Given the description of an element on the screen output the (x, y) to click on. 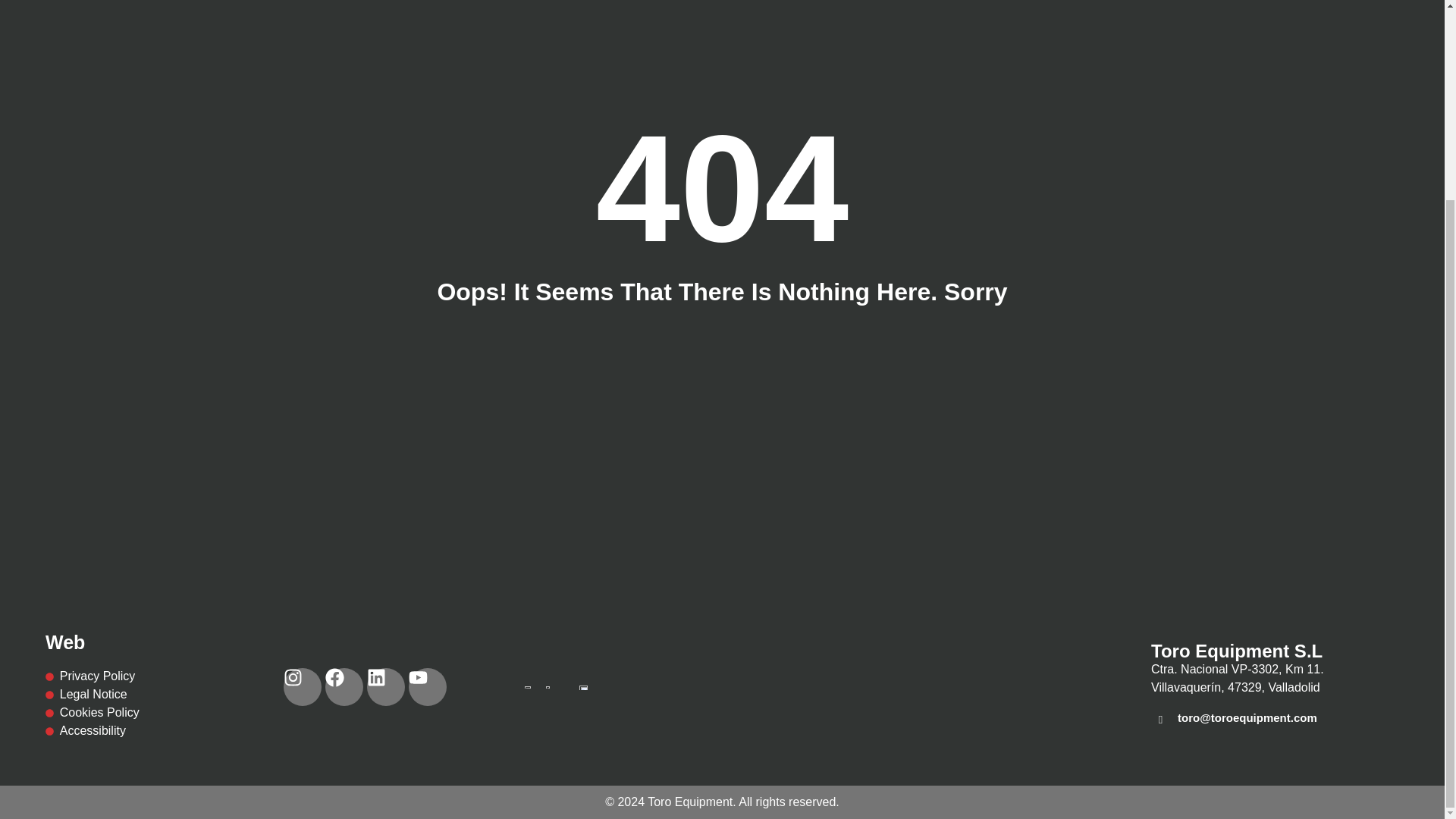
Accessibility (114, 730)
Legal Notice (114, 694)
Privacy Policy (114, 676)
Cookies Policy (114, 712)
